Given the description of an element on the screen output the (x, y) to click on. 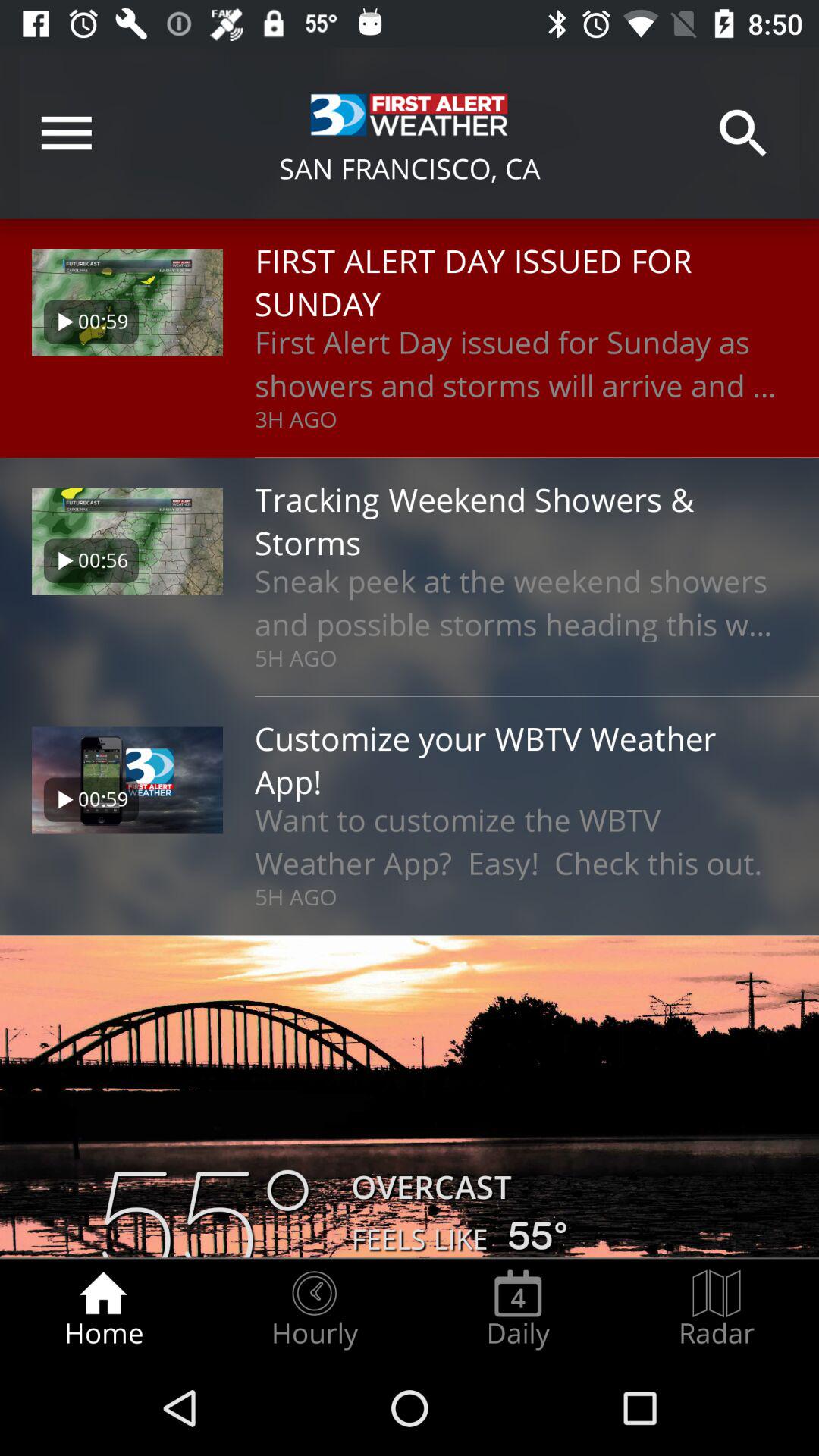
flip until the daily radio button (518, 1309)
